Given the description of an element on the screen output the (x, y) to click on. 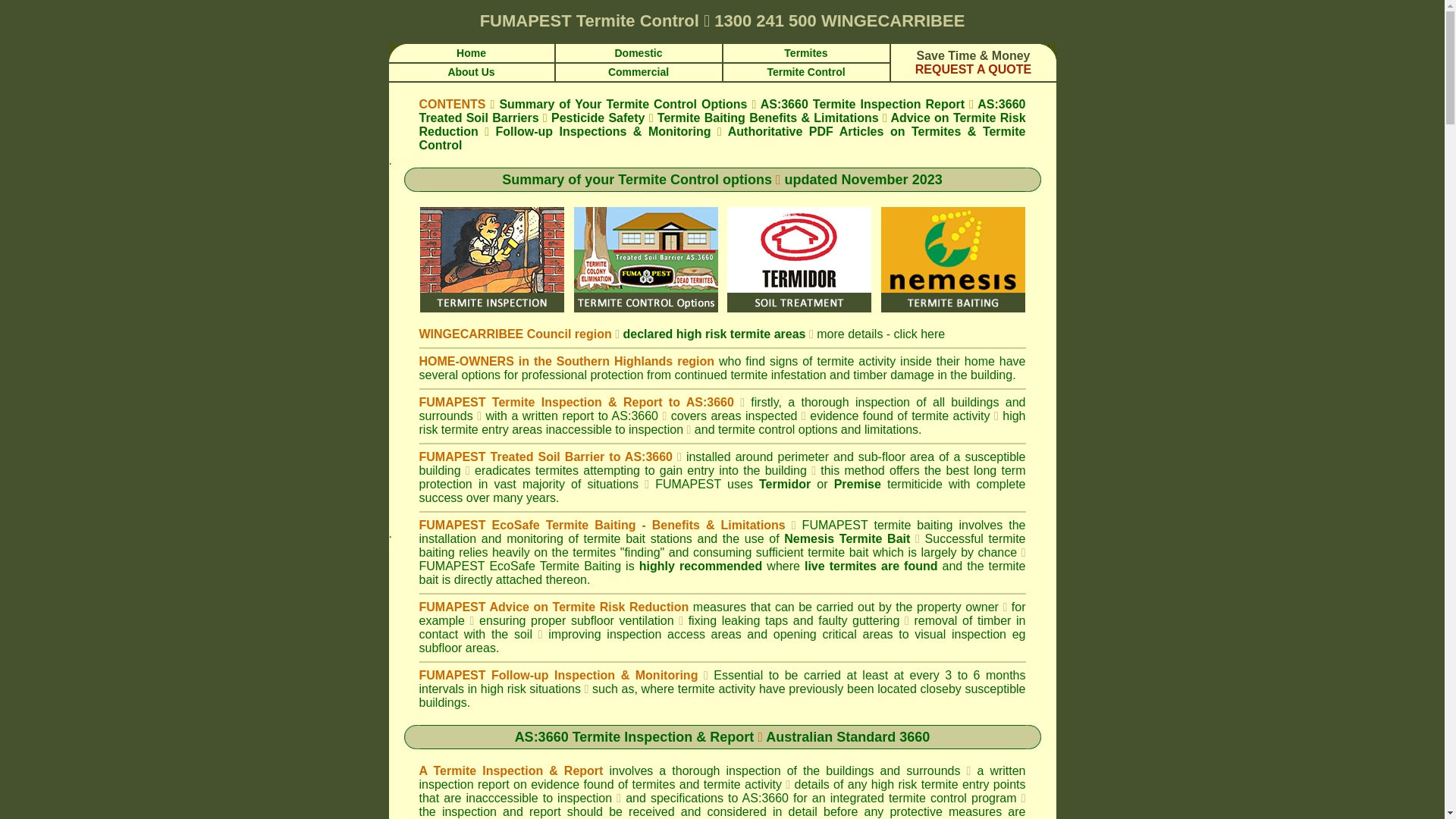
FUMAPEST Termite Inspection & Report to AS:3660 Element type: text (579, 401)
Termites Element type: text (805, 52)
Home Element type: text (471, 52)
FUMAPEST Element type: text (525, 20)
Premise Element type: text (857, 483)
Termidor Element type: text (784, 483)
About Us Element type: text (470, 71)
FUMAPEST Treated Soil Barrier to AS:3660 Element type: text (545, 456)
Nemesis Termite Bait Element type: text (847, 538)
AS:3660 Termite Inspection Report Element type: text (862, 103)
Save Time & Money
REQUEST A QUOTE Element type: text (973, 61)
Commercial Element type: text (638, 71)
FUMAPEST EcoSafe Termite Baiting - Benefits & Limitations Element type: text (604, 524)
Domestic Element type: text (638, 52)
Authoritative PDF Articles on Termites & Termite Control Element type: text (721, 138)
FUMAPEST Advice on Termite Risk Reduction Element type: text (553, 606)
Advice on Termite Risk Reduction Element type: text (721, 124)
Termite Baiting Benefits & Limitations Element type: text (767, 117)
Pesticide Safety Element type: text (598, 117)
Termite Control Element type: text (805, 71)
WINGECARRIBEE Council Element type: text (494, 333)
Follow-up Inspections & Monitoring Element type: text (603, 131)
AS:3660 Treated Soil Barriers Element type: text (721, 110)
Summary of Your Termite Control Options Element type: text (622, 103)
FUMAPEST Follow-up Inspection & Monitoring Element type: text (560, 674)
